Given the description of an element on the screen output the (x, y) to click on. 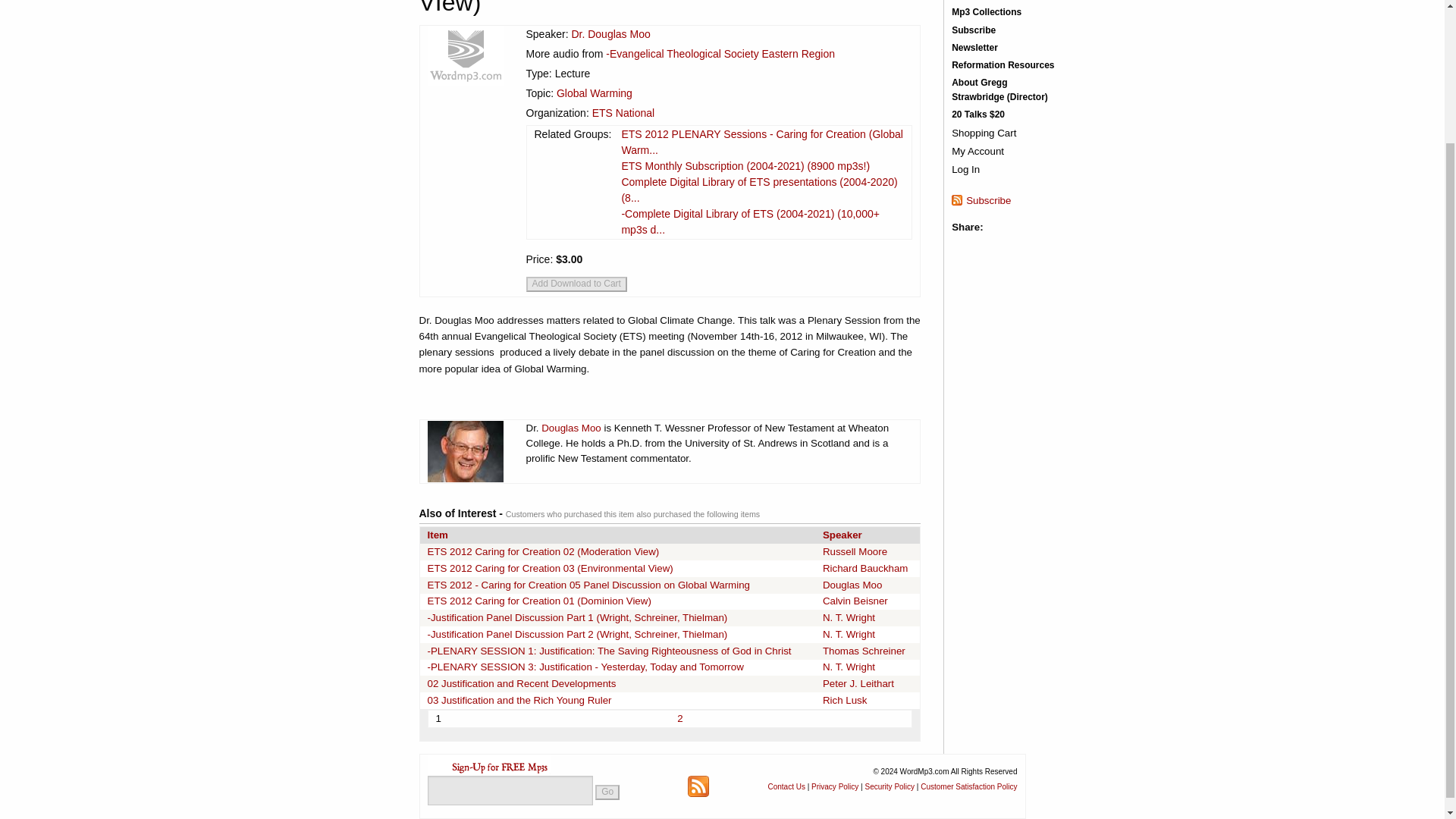
RSS feed (698, 785)
Add Download to Cart (576, 283)
Russell Moore (854, 551)
Richard Bauckham (865, 568)
Douglas Moo (571, 428)
Dr. Douglas Moo (609, 33)
Item (438, 534)
ETS National (622, 112)
Speaker (841, 534)
-Evangelical Theological Society Eastern Region (719, 53)
Global Warming (593, 92)
Add Download to Cart (576, 283)
Go (607, 792)
